Given the description of an element on the screen output the (x, y) to click on. 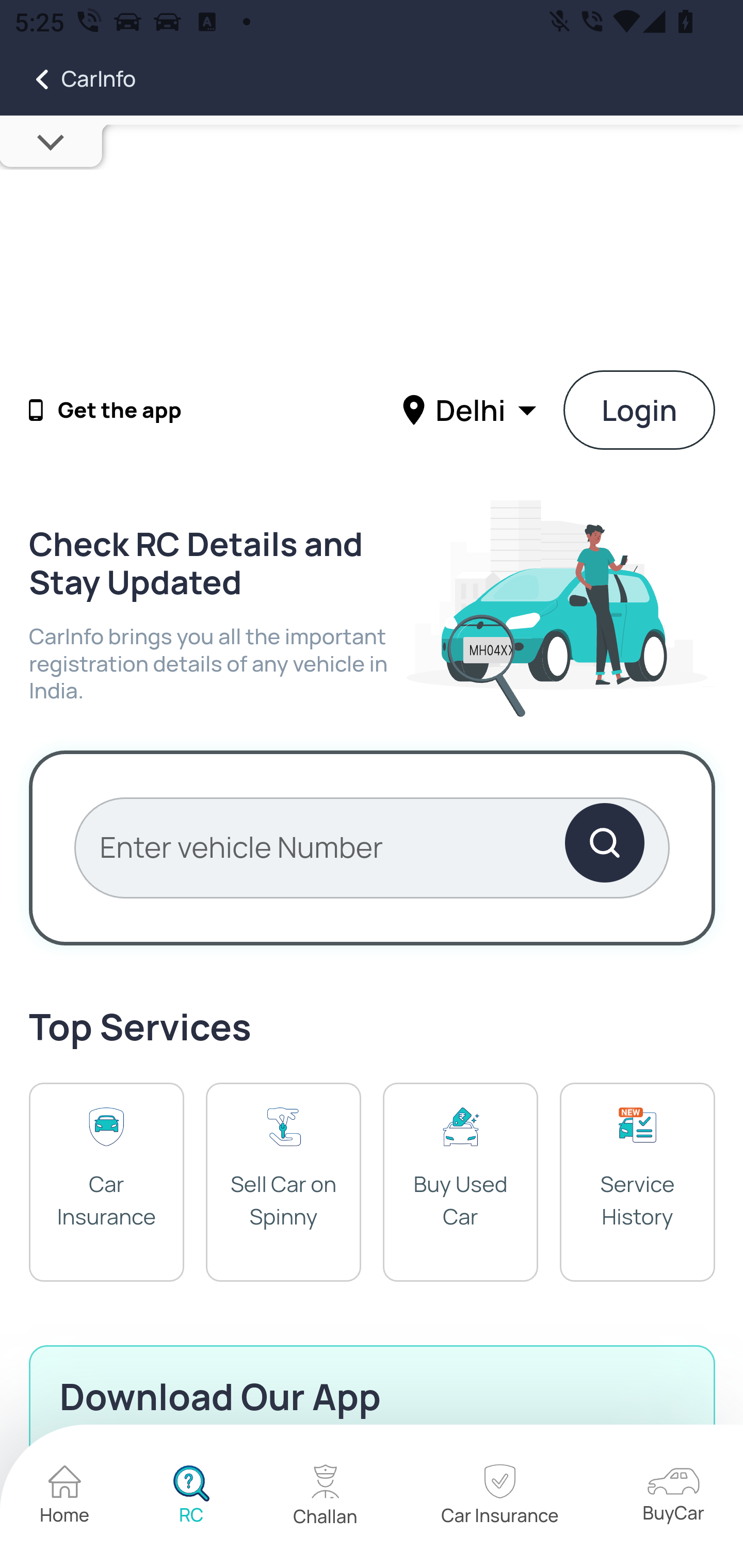
CarInfo (67, 79)
Login (639, 409)
Delhi (471, 408)
Get the app (119, 410)
search (603, 847)
topservices Buy Used Car topservices Buy Used Car (459, 1181)
home Challan home Challan (325, 1496)
home Home home Home (64, 1496)
home RC home RC (191, 1496)
home Car Insurance home Car Insurance (499, 1497)
home BuyCar home BuyCar (672, 1496)
